Given the description of an element on the screen output the (x, y) to click on. 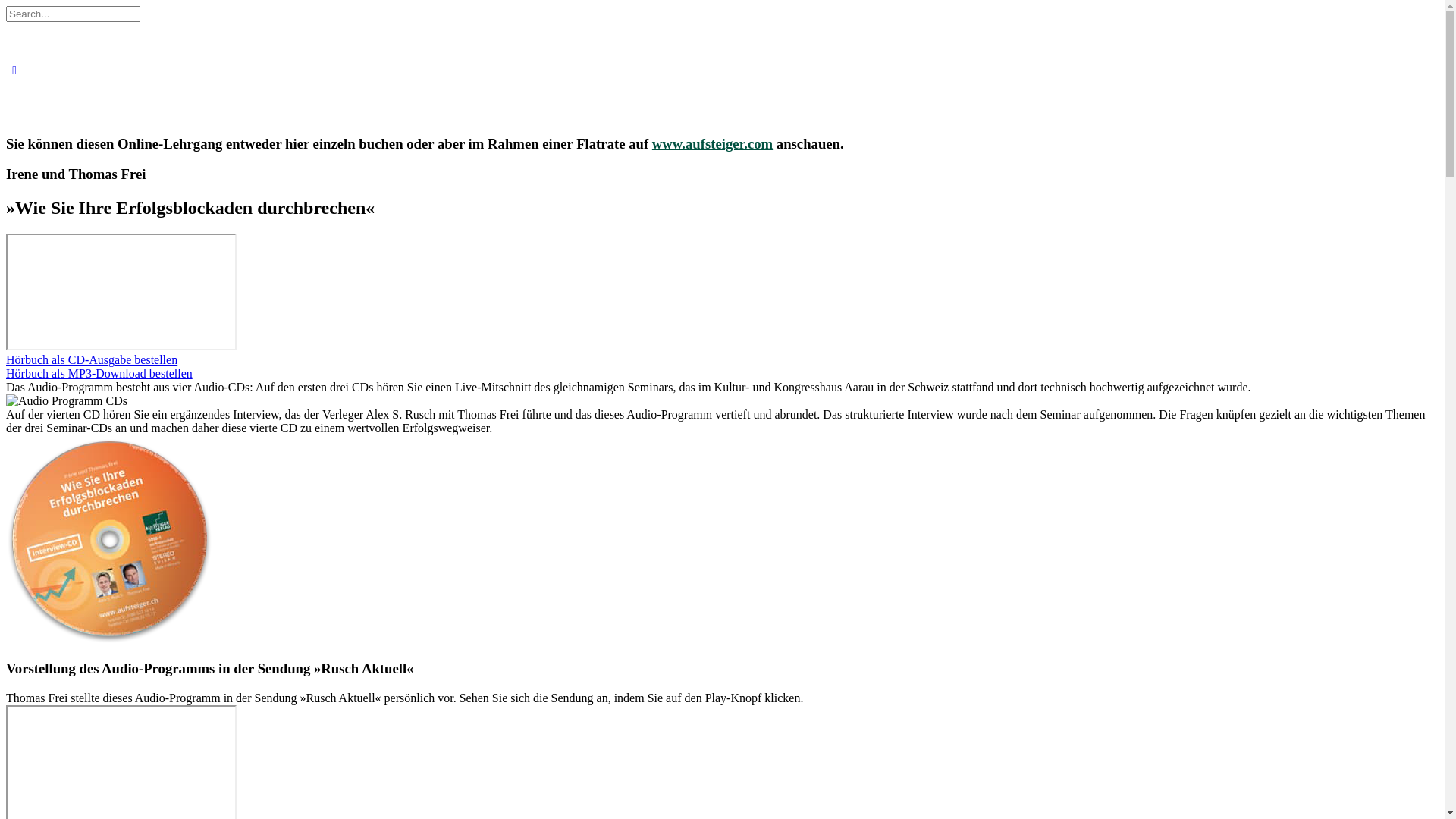
vimeo Video-Player Element type: hover (121, 291)
www.aufsteiger.com Element type: text (712, 143)
